Given the description of an element on the screen output the (x, y) to click on. 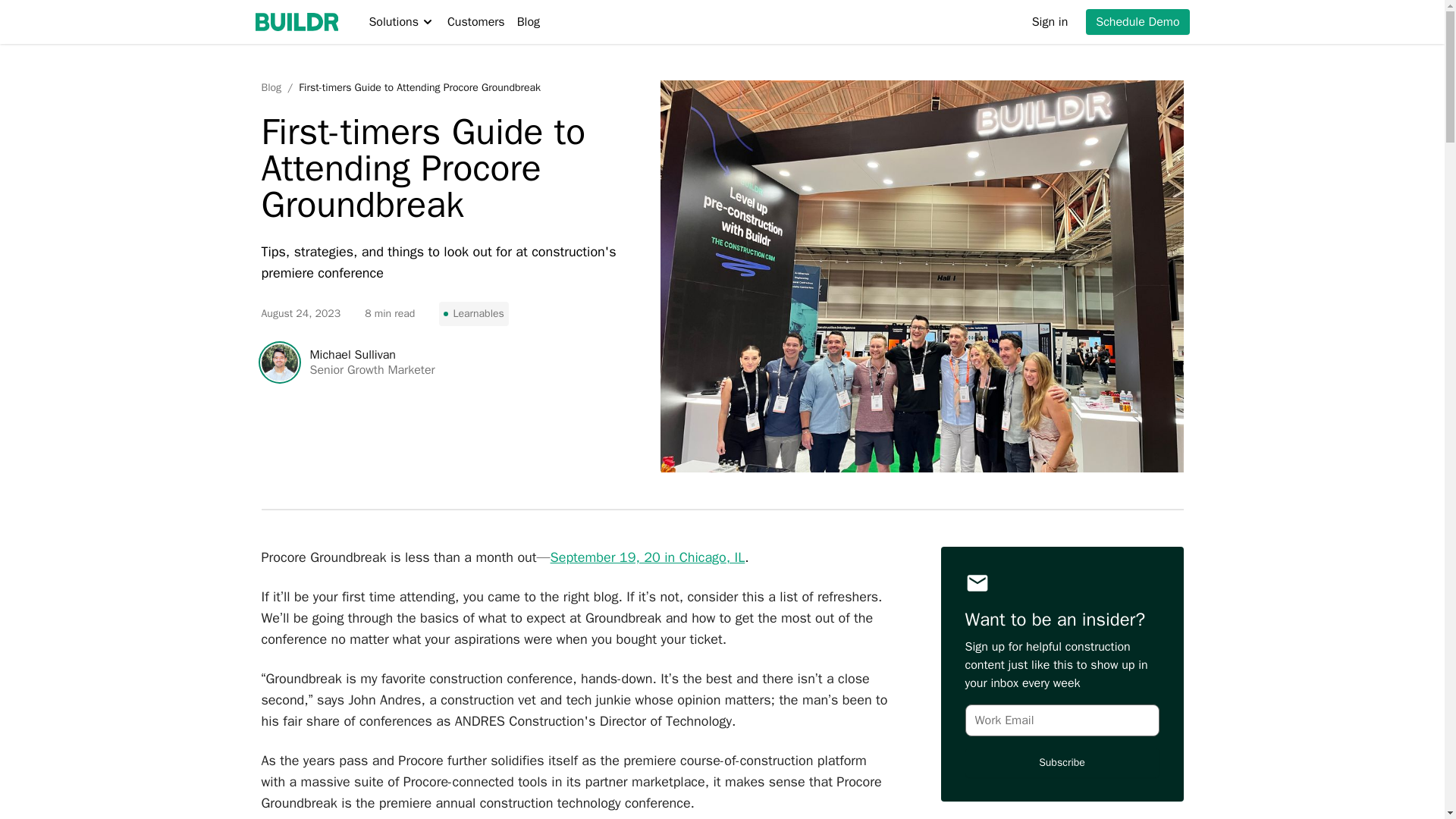
Sign in (1050, 22)
Blog (528, 22)
Subscribe (1060, 762)
September 19, 20 in Chicago, IL (647, 556)
Blog (270, 87)
Customers (475, 22)
Solutions (400, 22)
Schedule Demo (1137, 22)
